Given the description of an element on the screen output the (x, y) to click on. 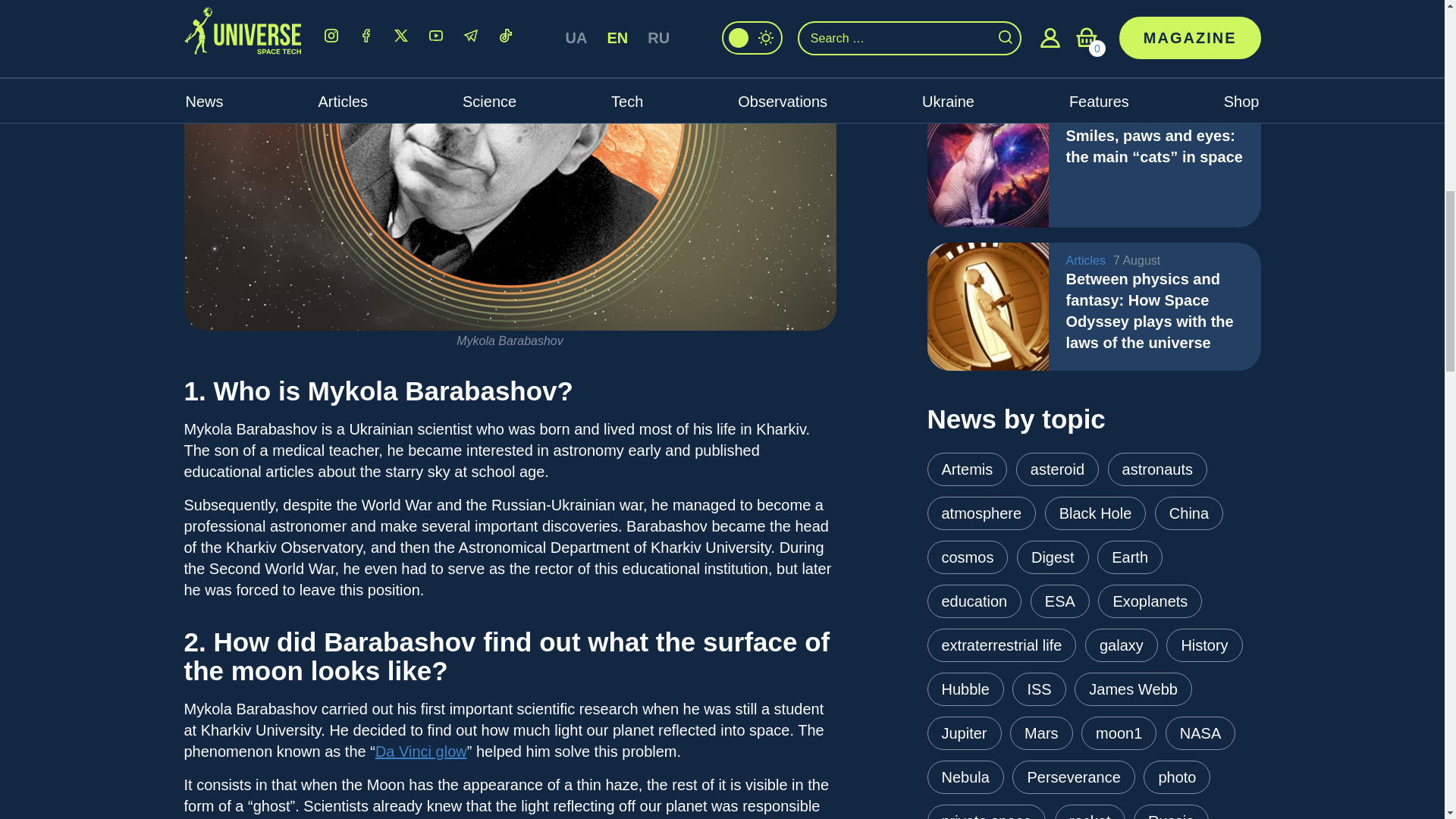
Where and how to observe the Perseids: Practical tips (987, 42)
Da Vinci glow (421, 751)
